Given the description of an element on the screen output the (x, y) to click on. 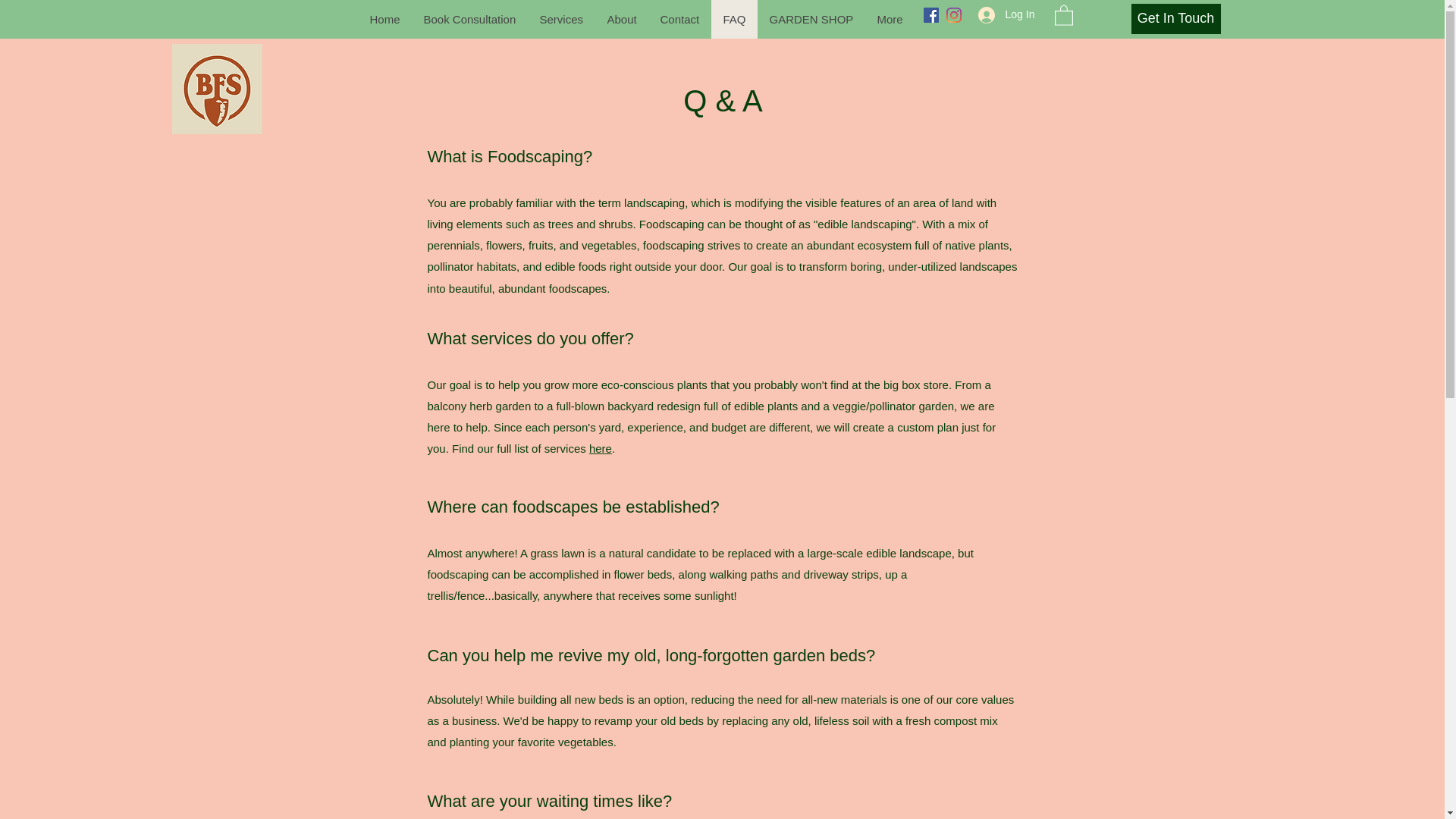
Get In Touch (1176, 19)
Contact (678, 19)
Log In (1001, 14)
Book Consultation (468, 19)
Home (384, 19)
services (501, 338)
Services (561, 19)
FAQ (734, 19)
GARDEN SHOP (810, 19)
About (620, 19)
services here (577, 448)
